Given the description of an element on the screen output the (x, y) to click on. 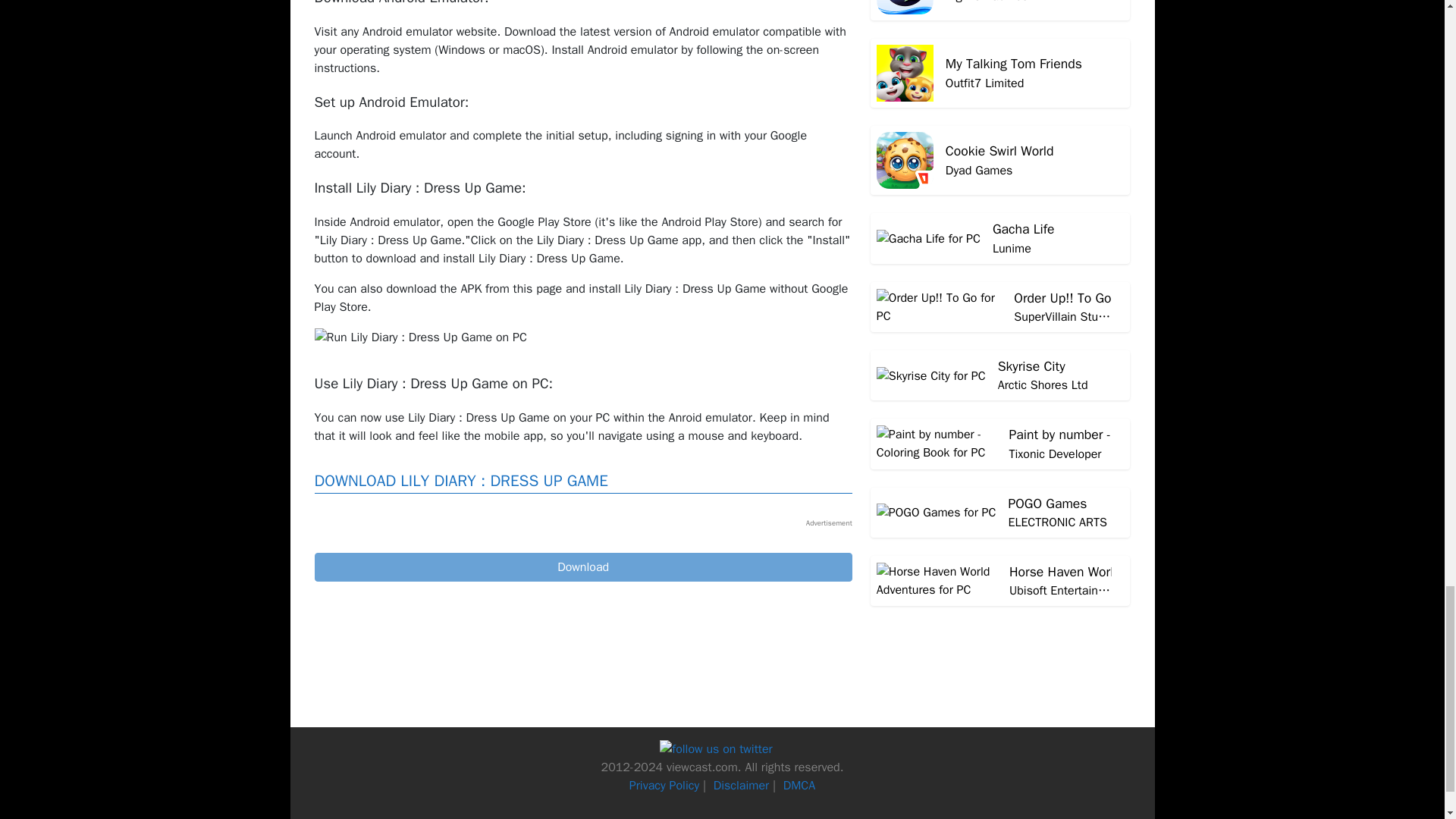
Run Lily Diary : Dress Up Game on PC (419, 337)
Lily Diary : Dress Up Game (582, 566)
Download (582, 566)
